Given the description of an element on the screen output the (x, y) to click on. 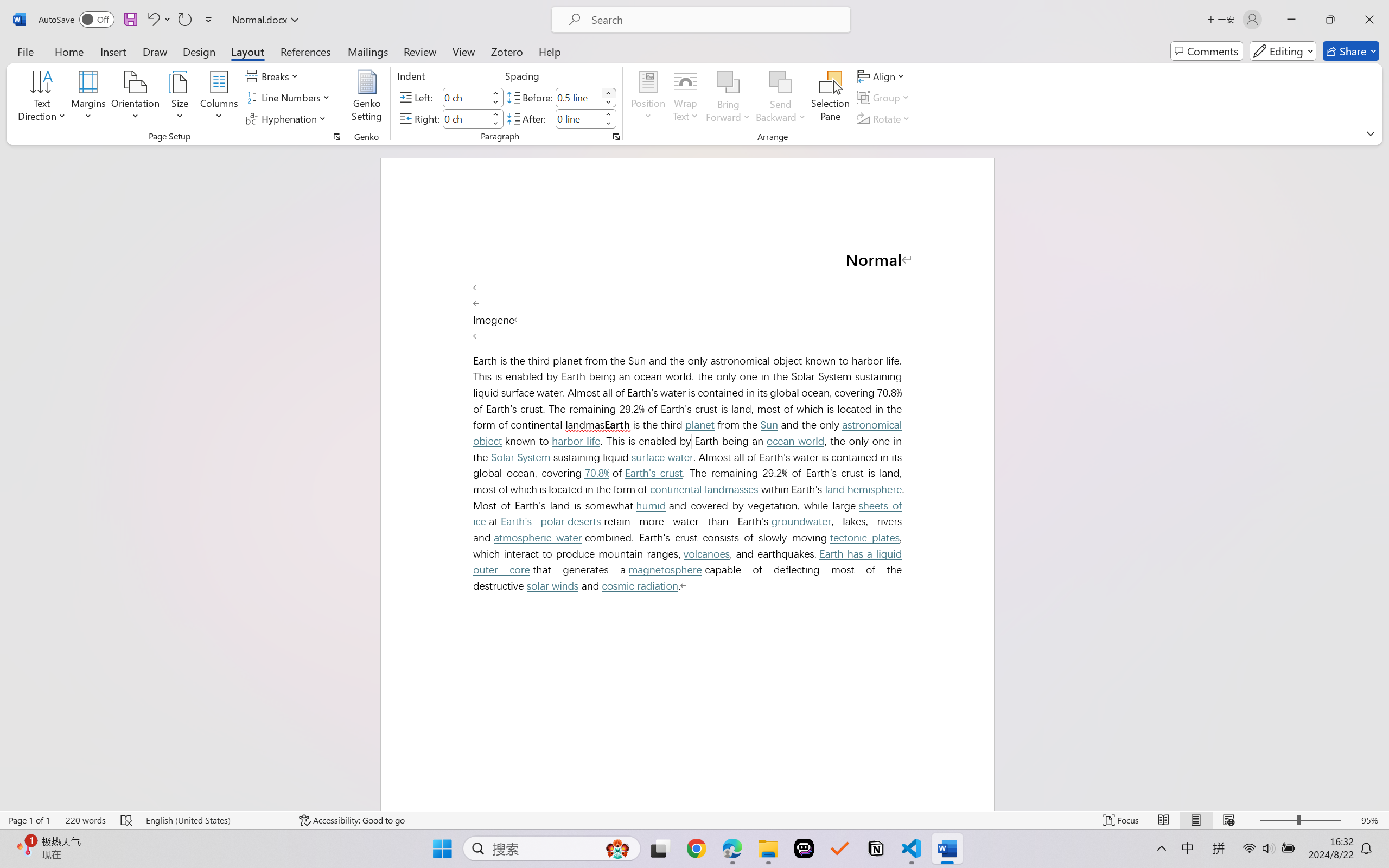
astronomical object (690, 432)
harbor life (575, 441)
Position (647, 97)
Microsoft search (715, 19)
Spelling and Grammar Check Errors (126, 819)
groundwater (800, 520)
Genko Setting... (367, 97)
Send Backward (781, 81)
Group (884, 97)
